Given the description of an element on the screen output the (x, y) to click on. 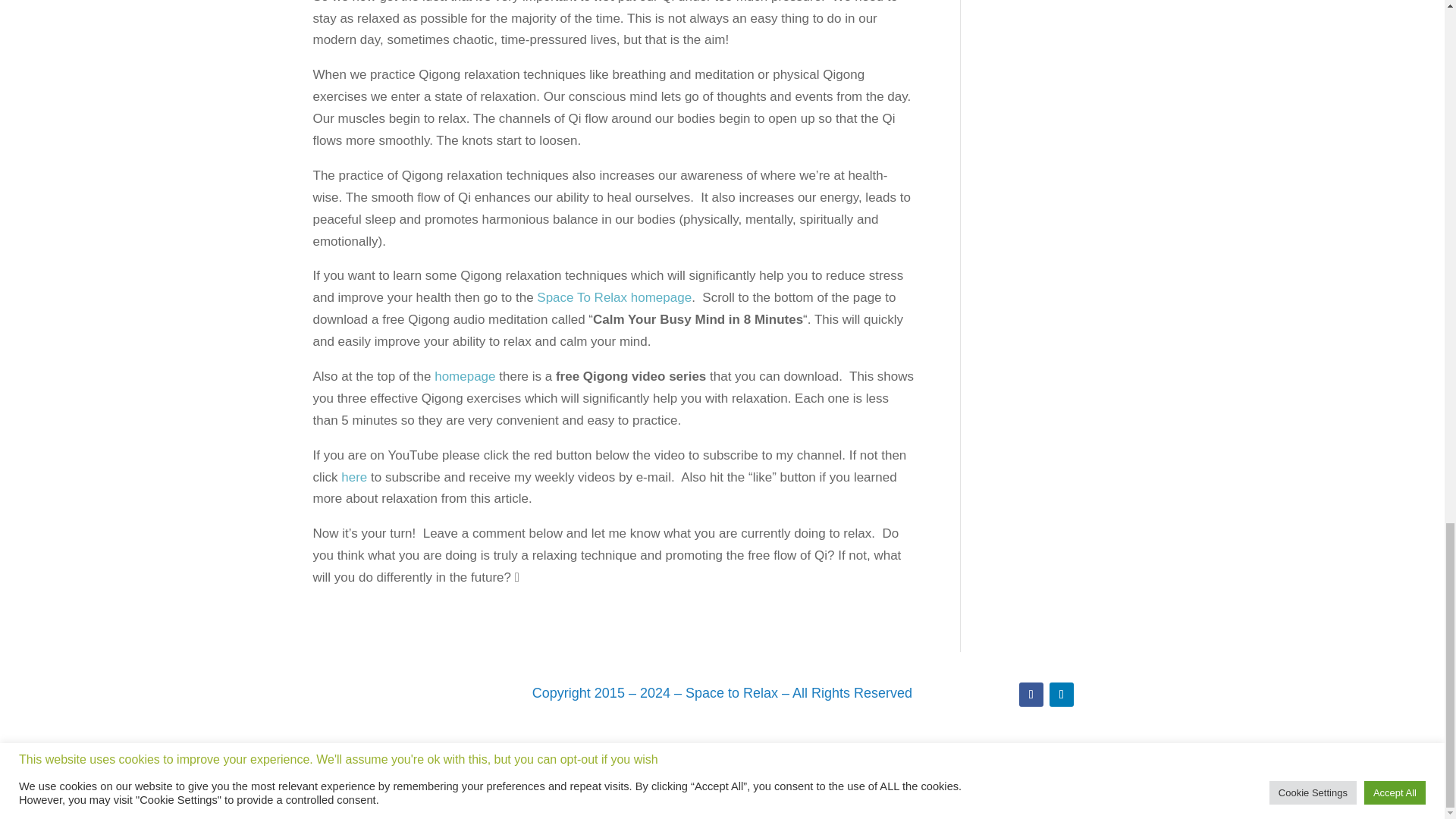
Follow on LinkedIn (1061, 694)
Follow on Facebook (1031, 694)
